Given the description of an element on the screen output the (x, y) to click on. 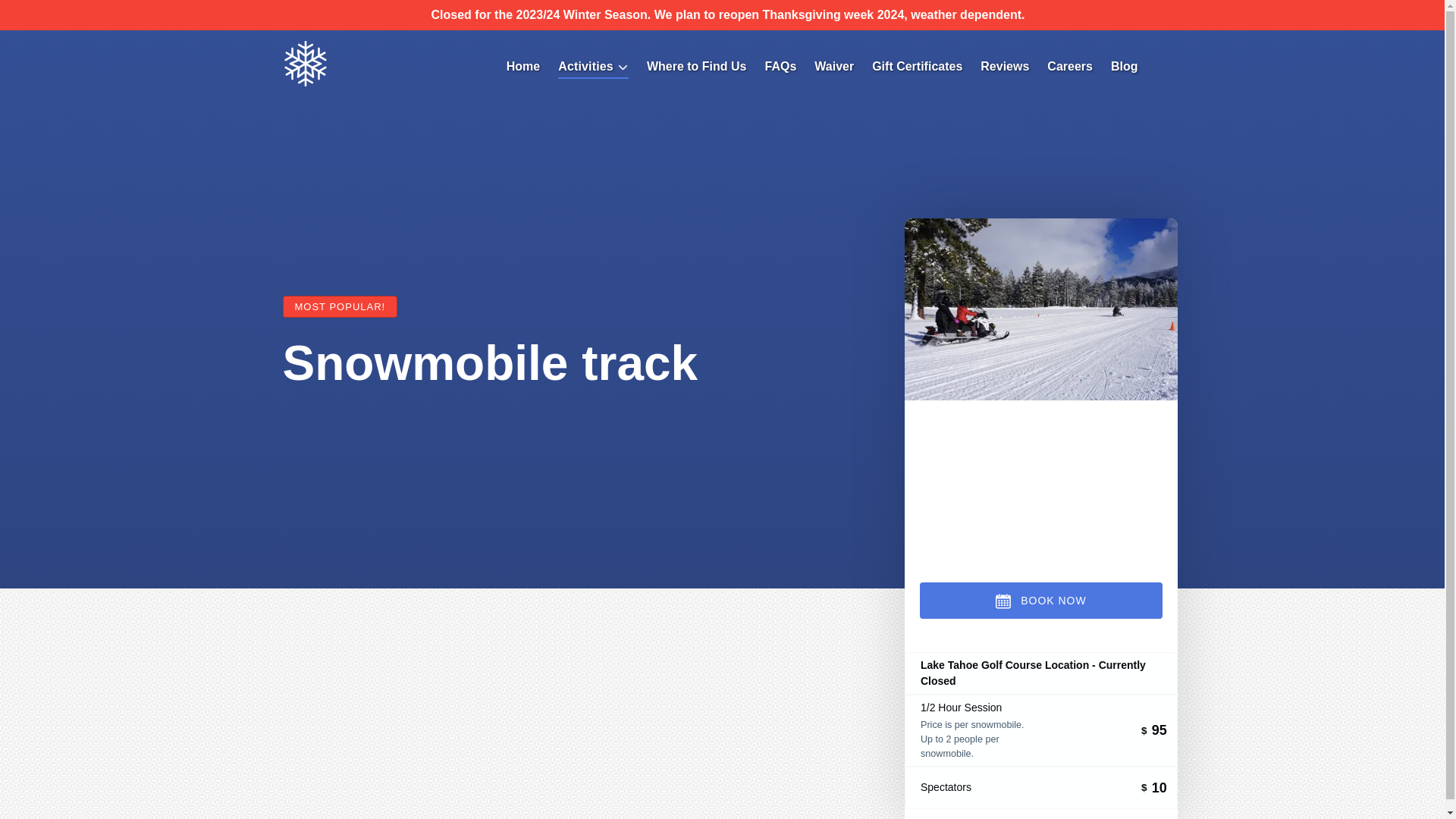
Skip to footer (42, 16)
Reviews (1004, 66)
Skip to primary navigation (77, 16)
Gift Certificates (917, 66)
Activities (592, 66)
Waiver (834, 66)
Careers (1070, 66)
Blog (1124, 66)
BOOK NOW (1039, 600)
Home (522, 66)
